Given the description of an element on the screen output the (x, y) to click on. 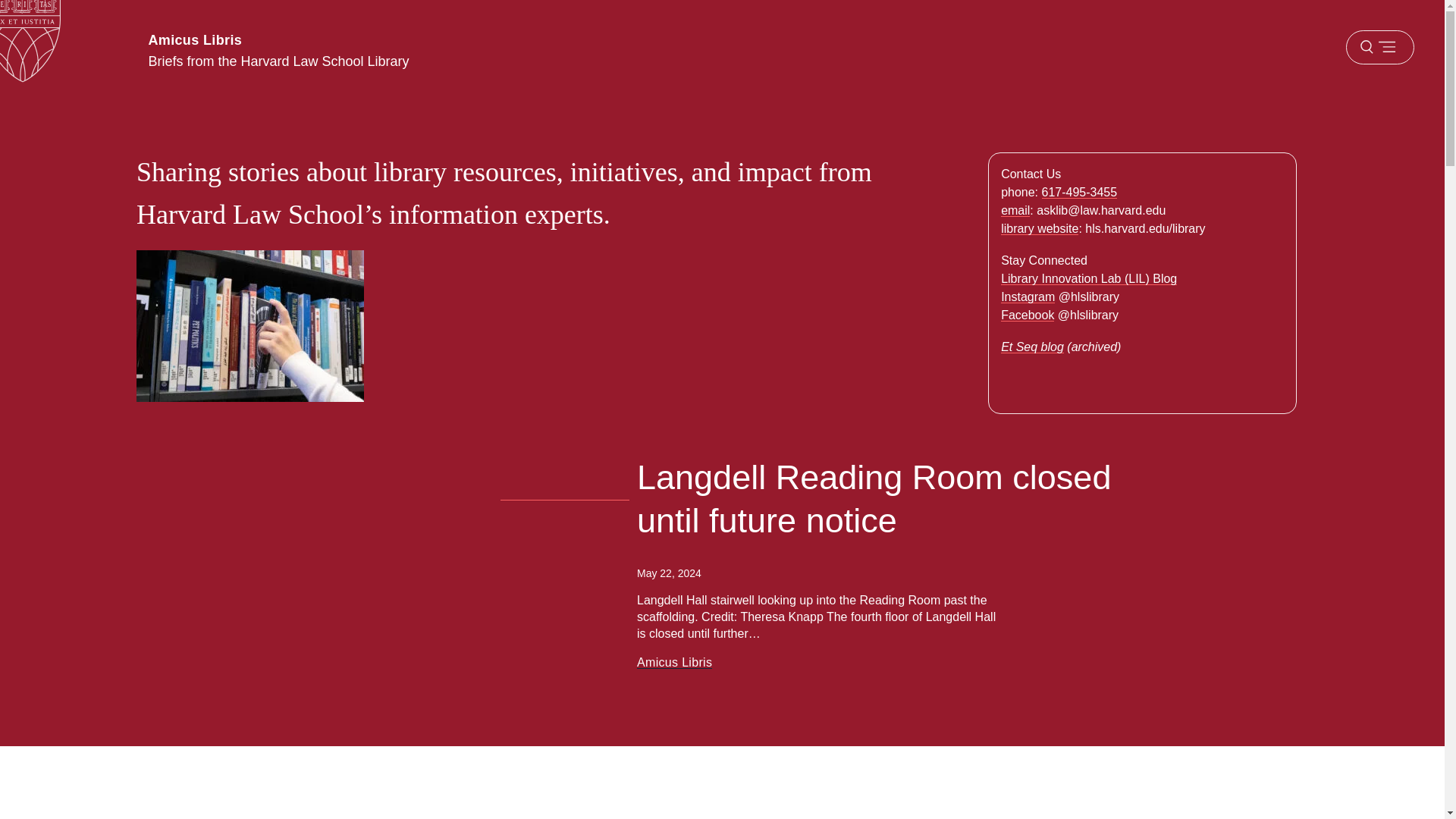
Open menu (1379, 47)
